Given the description of an element on the screen output the (x, y) to click on. 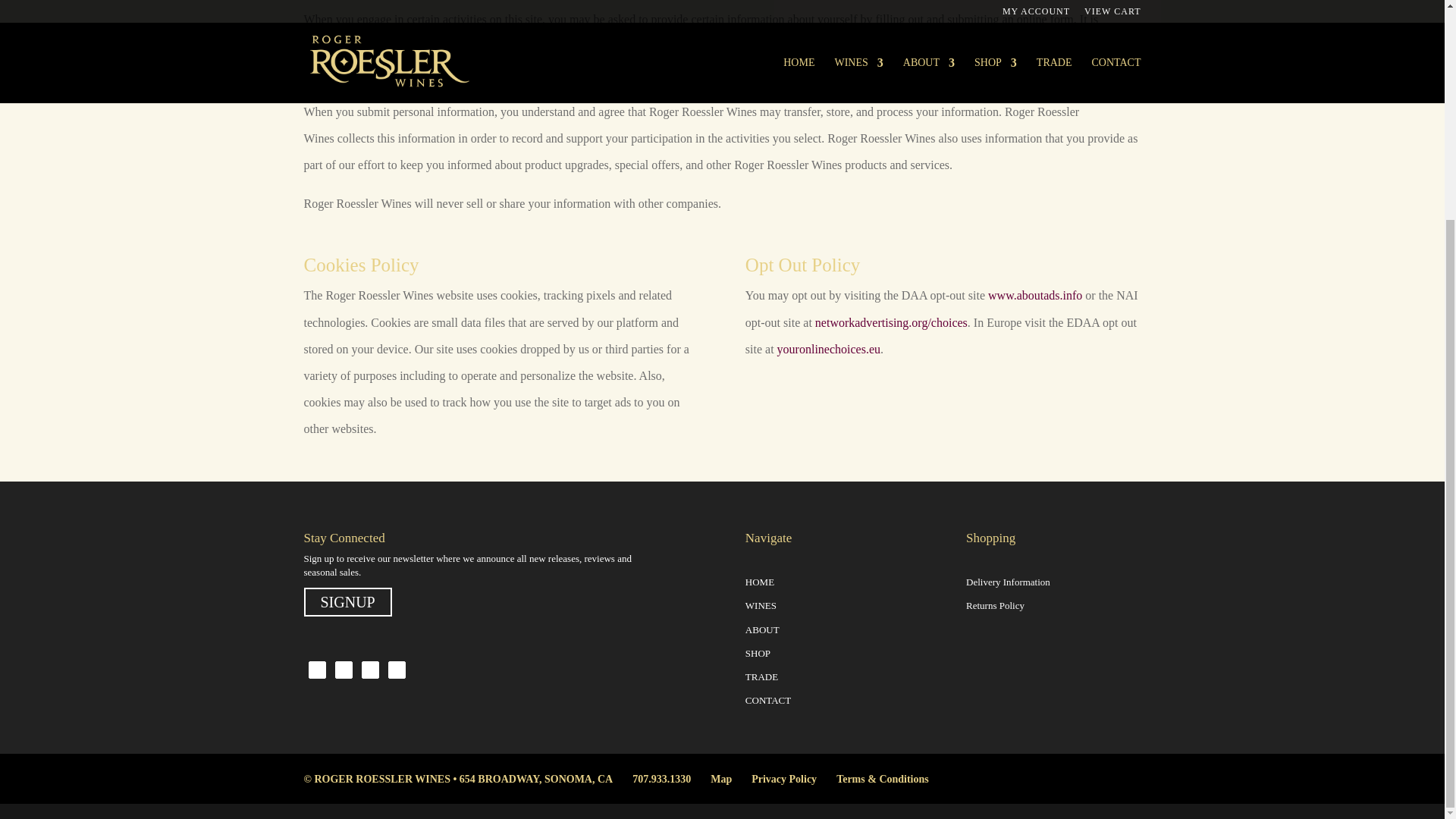
SIGNUP (346, 602)
www.aboutads.info (1034, 295)
Returns Policy (995, 604)
Map (721, 778)
CONTACT (767, 699)
SHOP (757, 653)
707.933.1330 (660, 778)
ABOUT (761, 629)
youronlinechoices.eu (828, 349)
Delivery Information (1007, 582)
